Given the description of an element on the screen output the (x, y) to click on. 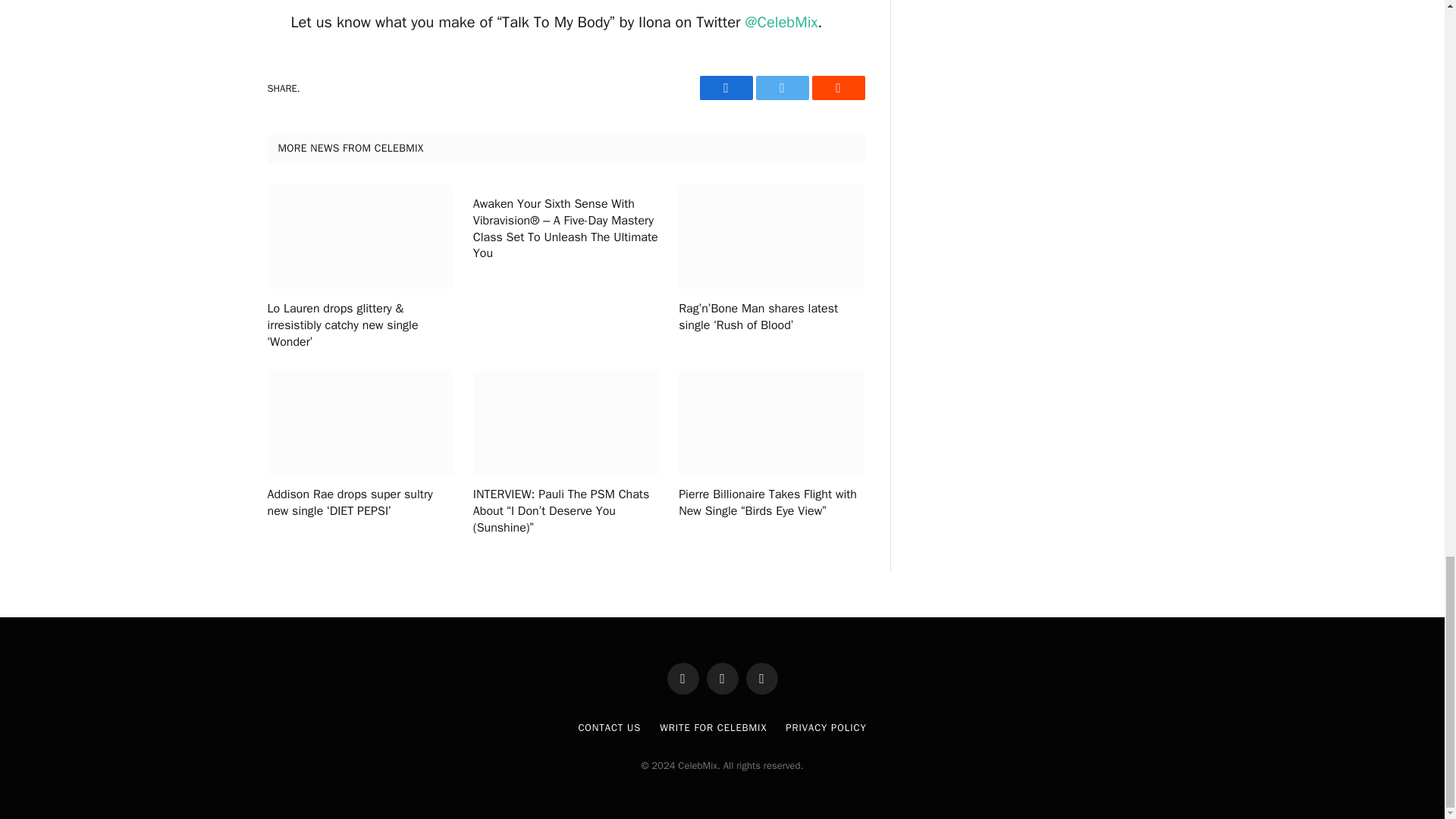
Facebook (725, 87)
Reddit (837, 87)
Twitter (781, 87)
